Given the description of an element on the screen output the (x, y) to click on. 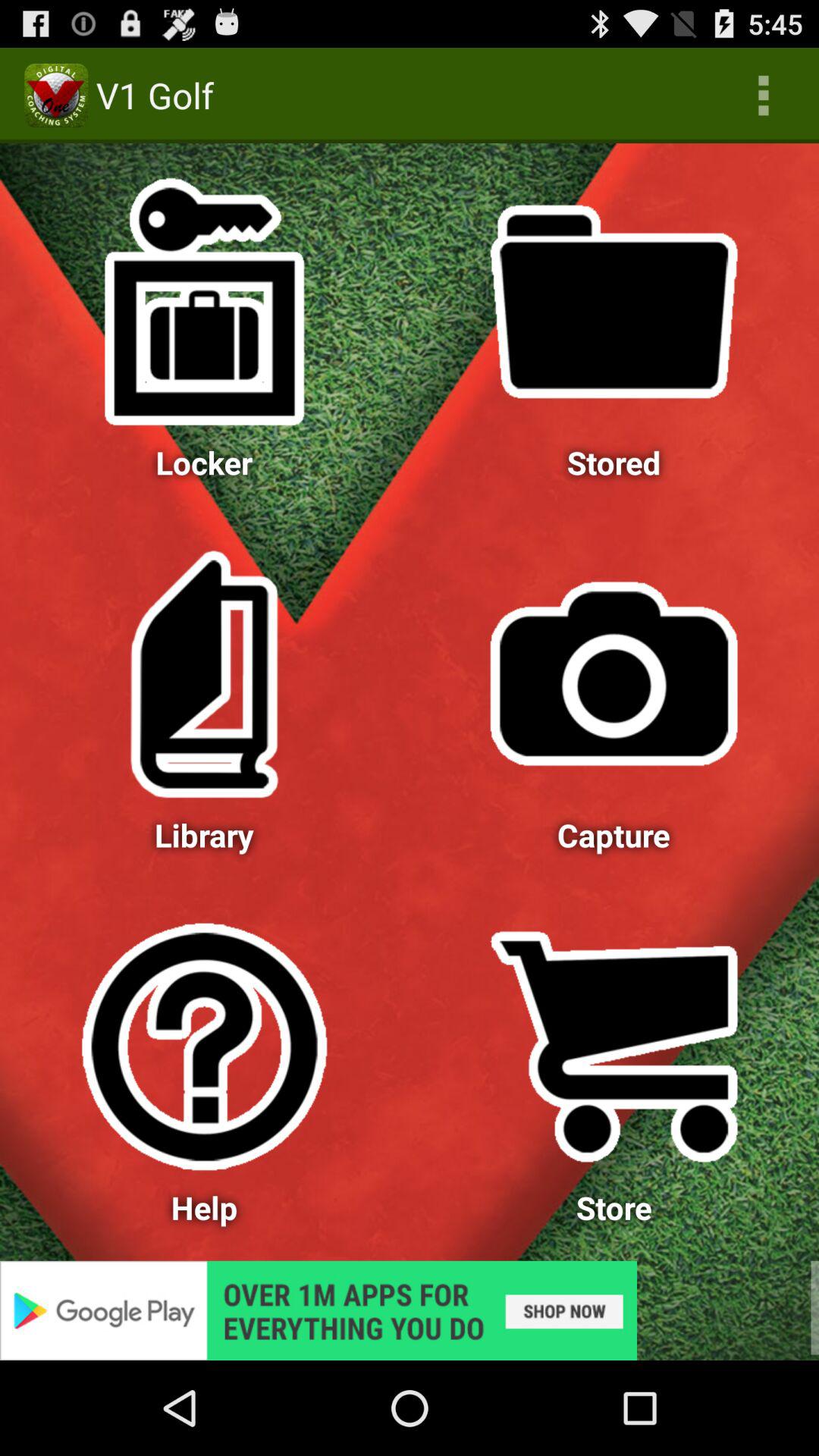
click the item to the right of the v1 golf app (763, 95)
